Given the description of an element on the screen output the (x, y) to click on. 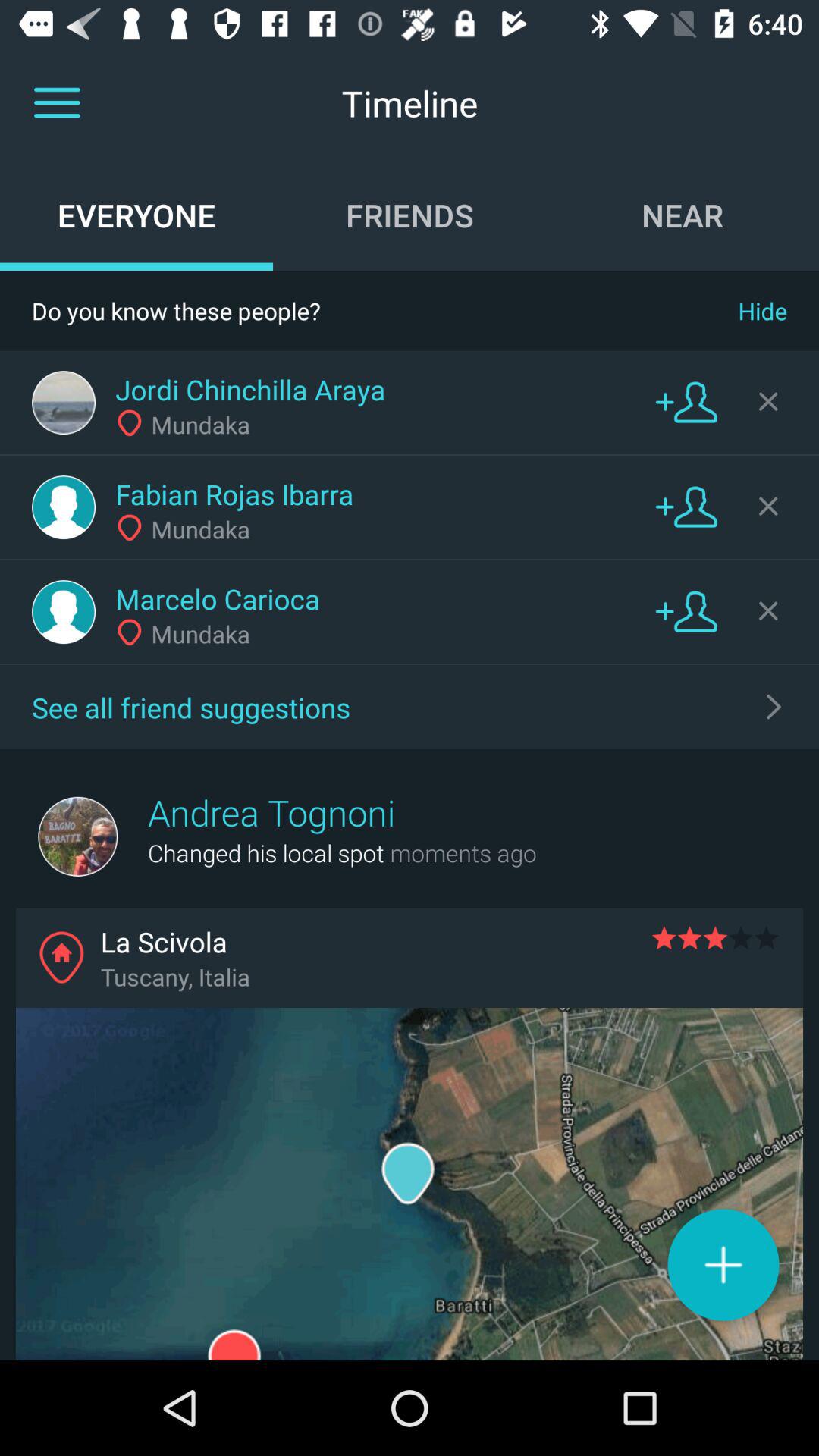
launch the icon next to the friends item (682, 214)
